Given the description of an element on the screen output the (x, y) to click on. 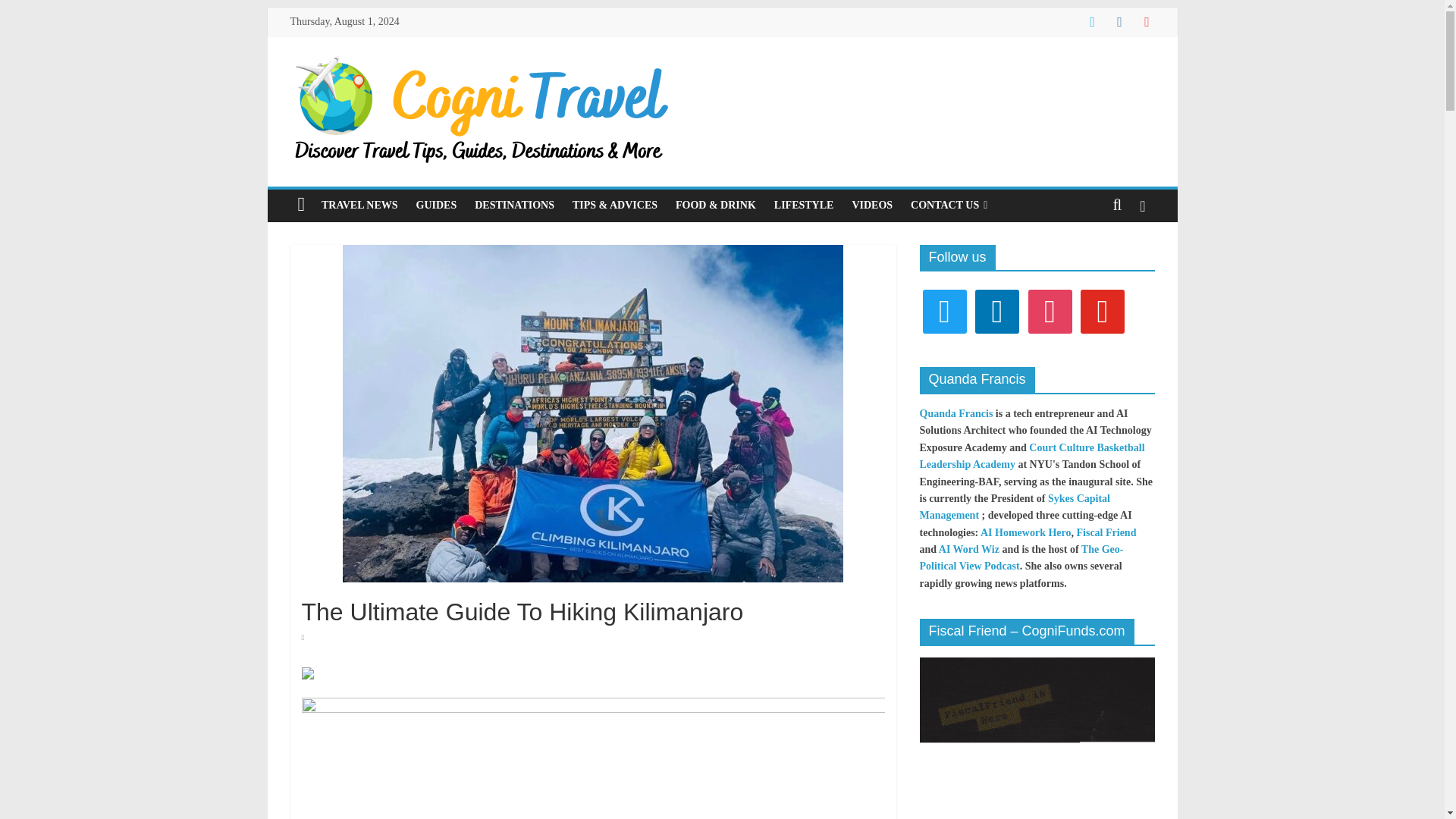
TRAVEL NEWS (360, 205)
CONTACT US (948, 205)
DESTINATIONS (514, 205)
LIFESTYLE (804, 205)
VIDEOS (872, 205)
GUIDES (436, 205)
